Given the description of an element on the screen output the (x, y) to click on. 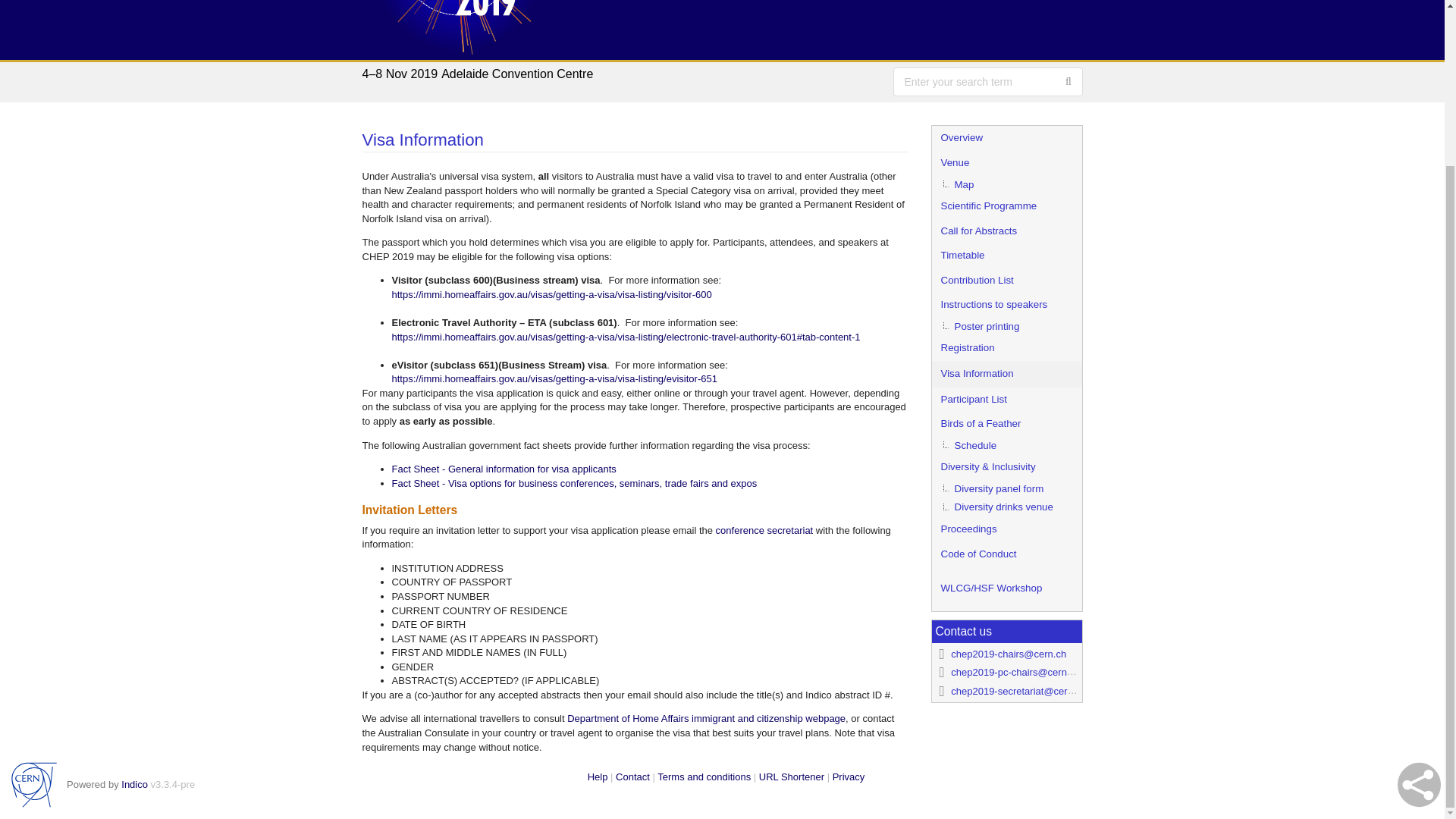
Map (1006, 184)
Overview (1006, 138)
Venue (1006, 163)
